Given the description of an element on the screen output the (x, y) to click on. 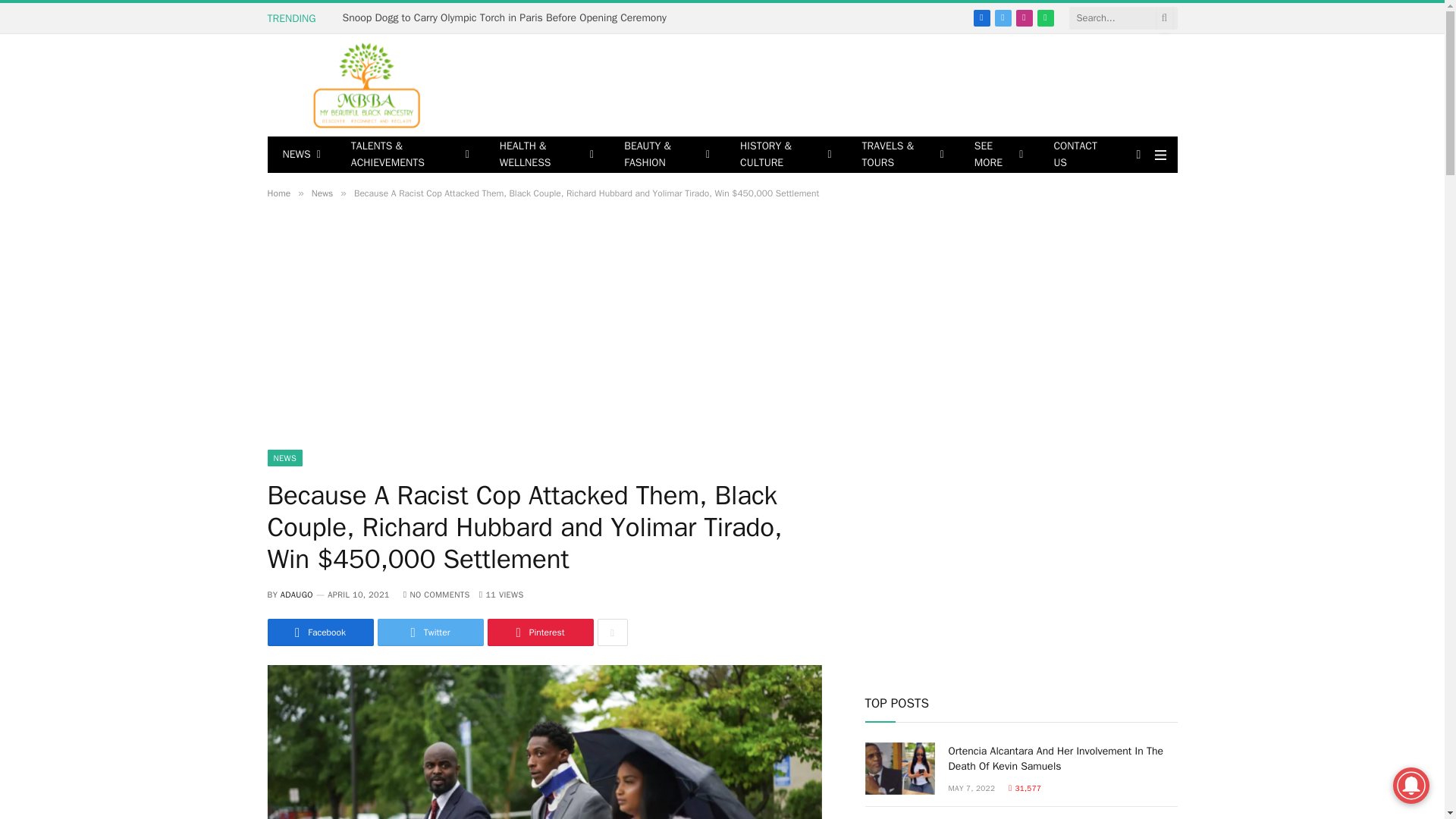
My Beautiful Black Ancestry (368, 85)
